Given the description of an element on the screen output the (x, y) to click on. 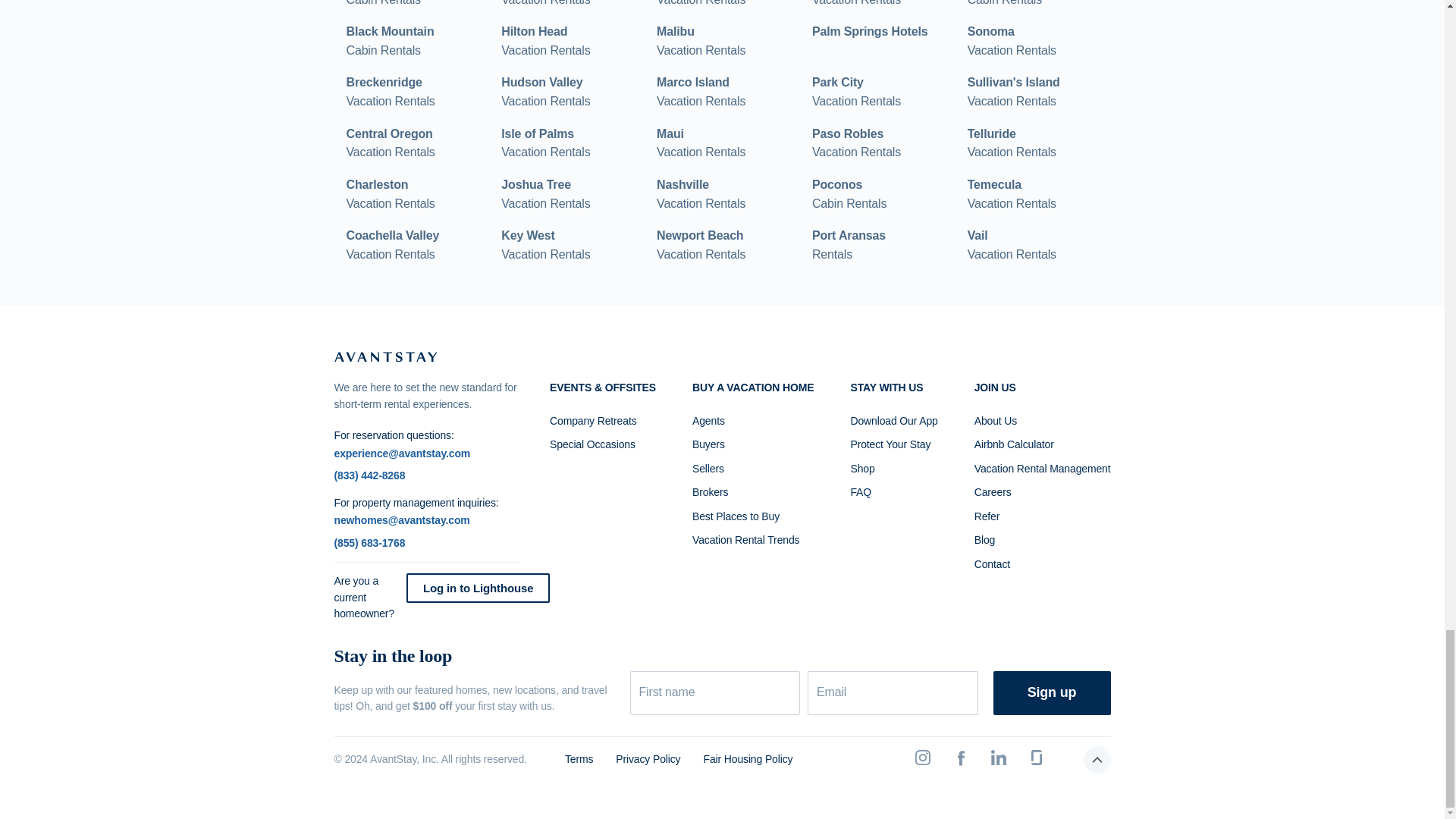
Palm Springs Hotels (700, 4)
